Given the description of an element on the screen output the (x, y) to click on. 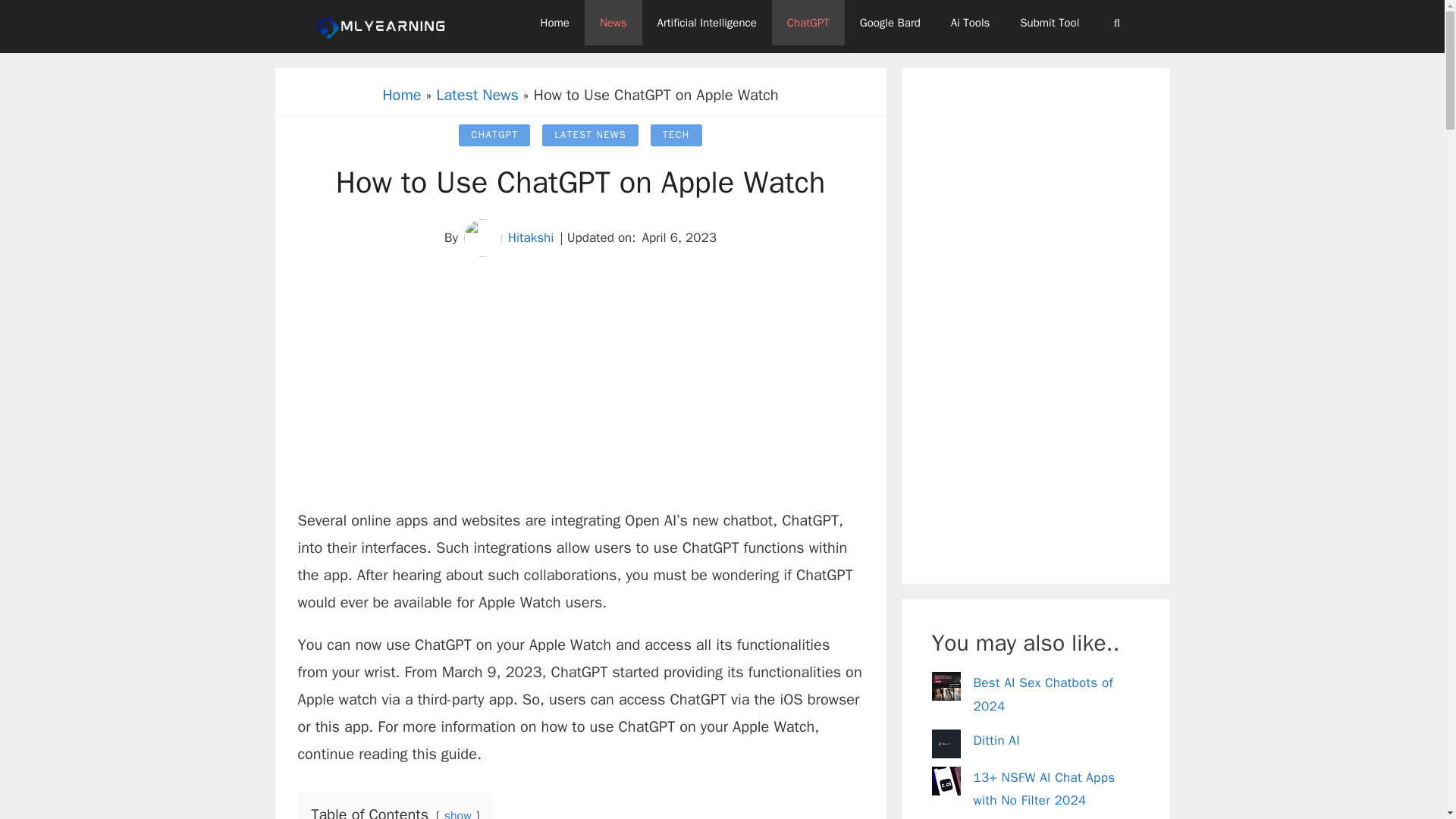
Home (400, 94)
CHATGPT (493, 135)
Latest News (477, 94)
News (613, 22)
show (457, 813)
Dittin AI (997, 740)
MLYearning (380, 26)
Best AI Sex Chatbots of 2024 (1043, 694)
Submit Tool (1049, 22)
Home (555, 22)
Advertisement (580, 393)
Hitakshi (530, 236)
MLYearning (384, 26)
TECH (675, 135)
Google Bard (890, 22)
